Given the description of an element on the screen output the (x, y) to click on. 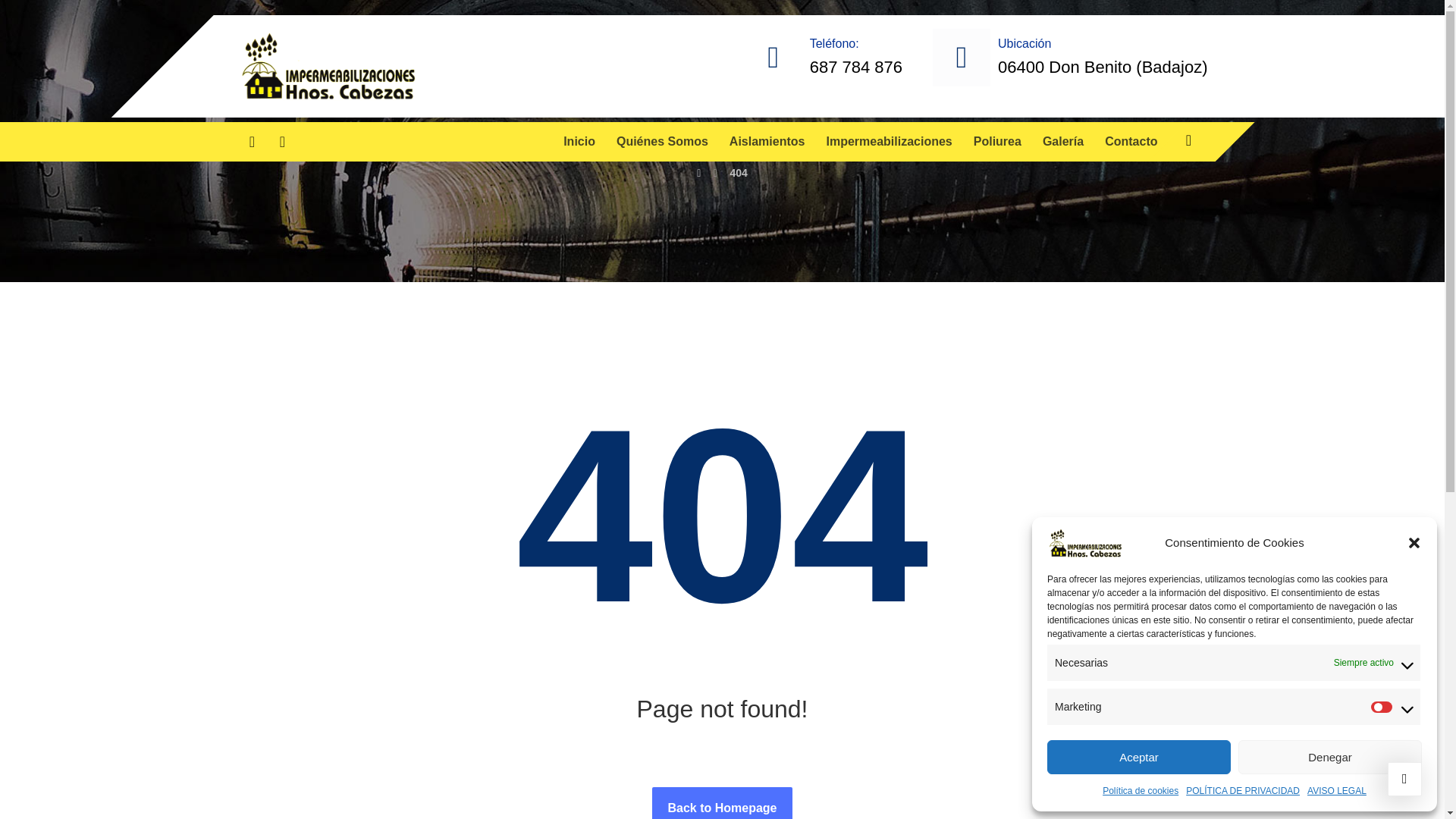
Inicio (579, 141)
404 (737, 173)
Back to Homepage (722, 803)
Impermeabilizaciones (888, 141)
Home page (698, 173)
Aislamientos (767, 141)
Contacto (1131, 141)
Poliurea (998, 141)
Aceptar (1138, 756)
Denegar (1330, 756)
AVISO LEGAL (1337, 791)
AISLAMIENTOS E IMPERMEABILIZACIONES EN EXTREMADURA (327, 65)
